Given the description of an element on the screen output the (x, y) to click on. 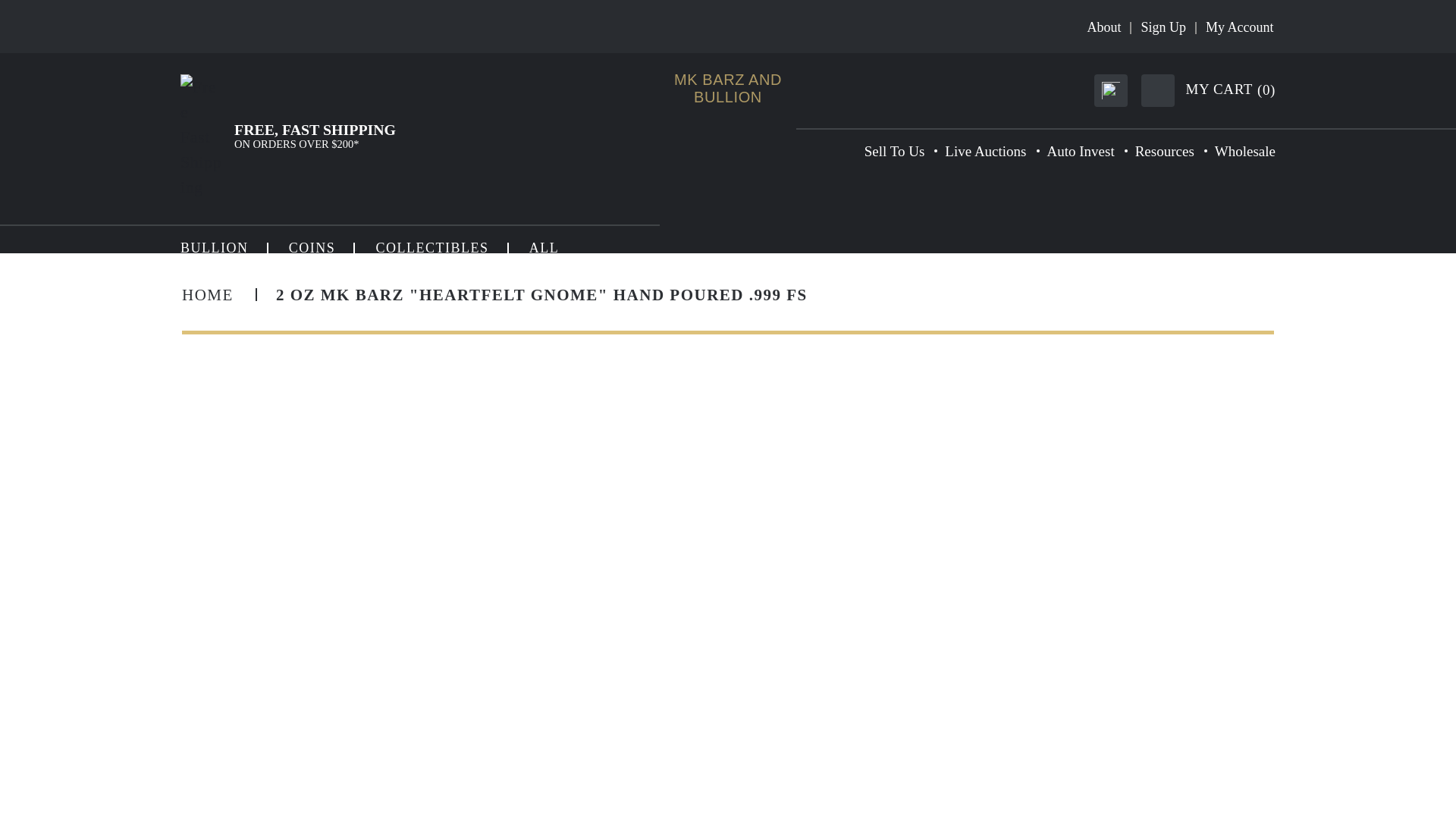
BULLION (214, 247)
About (1103, 27)
MK BARZ AND BULLION (727, 89)
About (1103, 27)
COLLECTIBLES (431, 247)
Sign Up (1163, 27)
My Account (1239, 27)
ALL (544, 247)
COINS (312, 247)
